Given the description of an element on the screen output the (x, y) to click on. 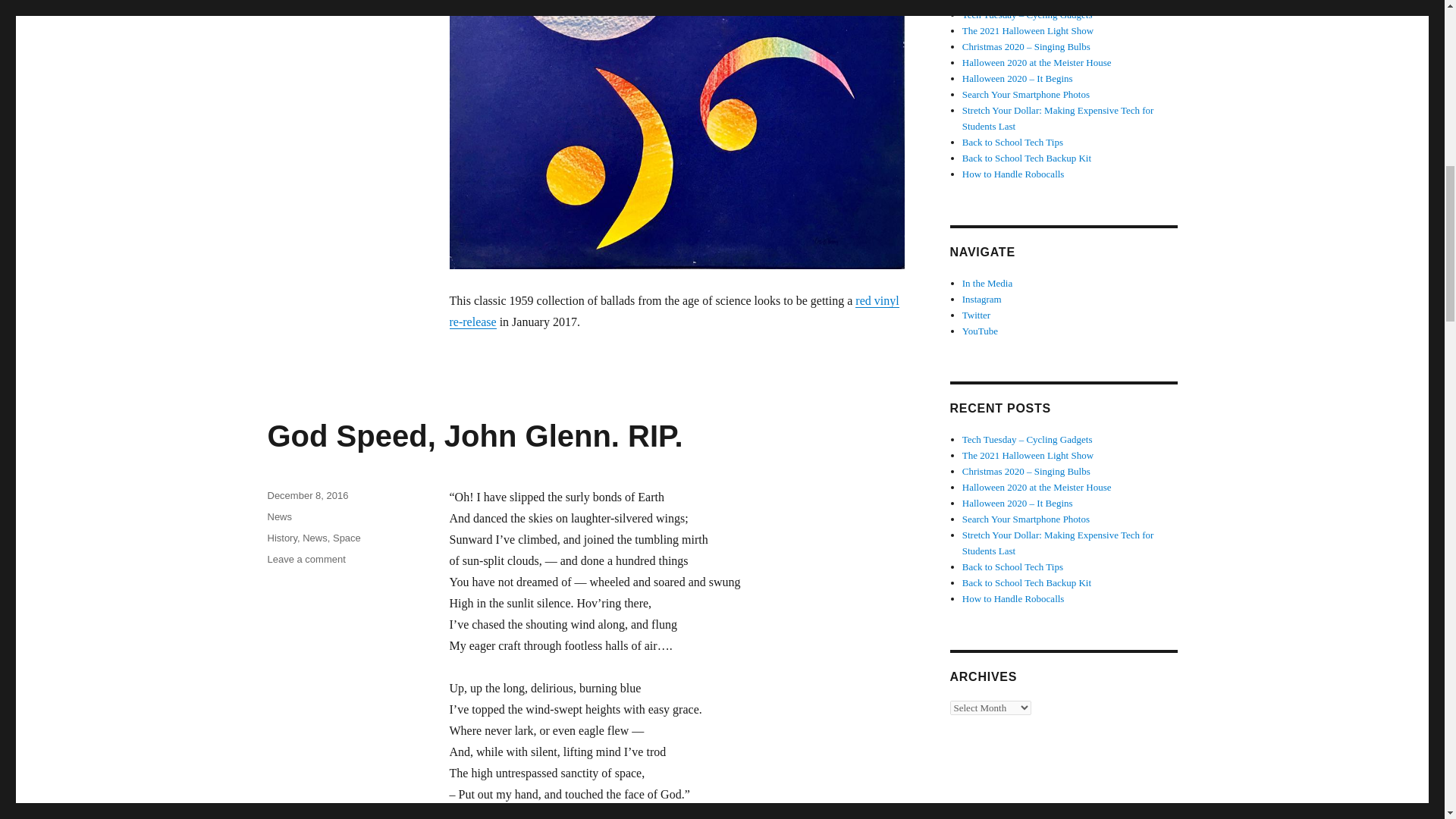
Space (347, 537)
God Speed, John Glenn. RIP. (305, 559)
December 8, 2016 (474, 435)
red vinyl re-release (306, 495)
News (673, 311)
History (279, 516)
News (281, 537)
